Given the description of an element on the screen output the (x, y) to click on. 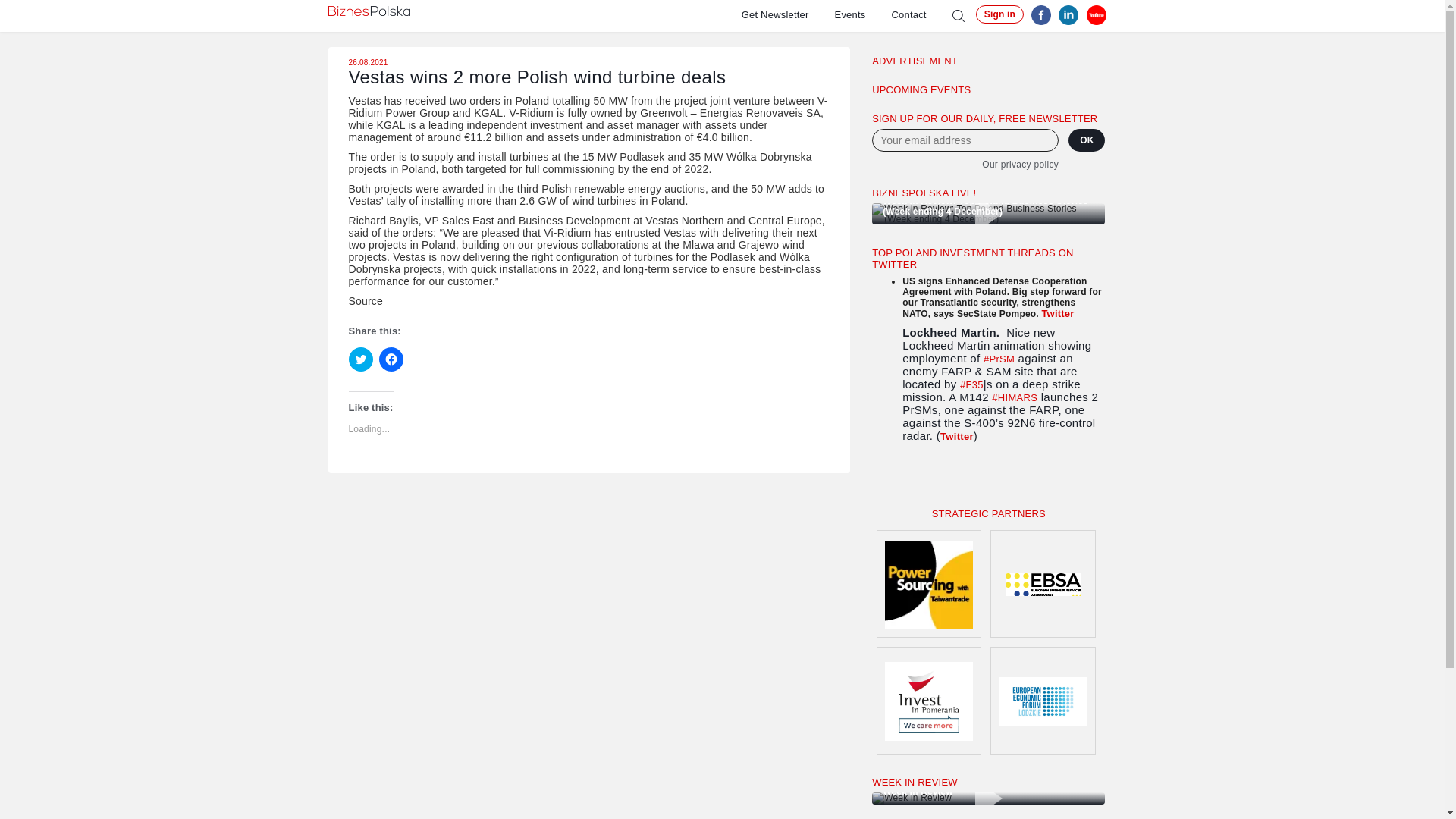
Events (862, 14)
Week in Review (988, 798)
Twitter (1057, 313)
Source (366, 300)
Contact (921, 14)
Our privacy policy (965, 163)
OK (1086, 139)
Click to share on Twitter (360, 359)
Twitter (957, 436)
OK (1086, 139)
Sign in (999, 13)
Biznes Polska (368, 10)
Events (862, 14)
Get Newsletter (787, 14)
Click to share on Facebook (390, 359)
